Given the description of an element on the screen output the (x, y) to click on. 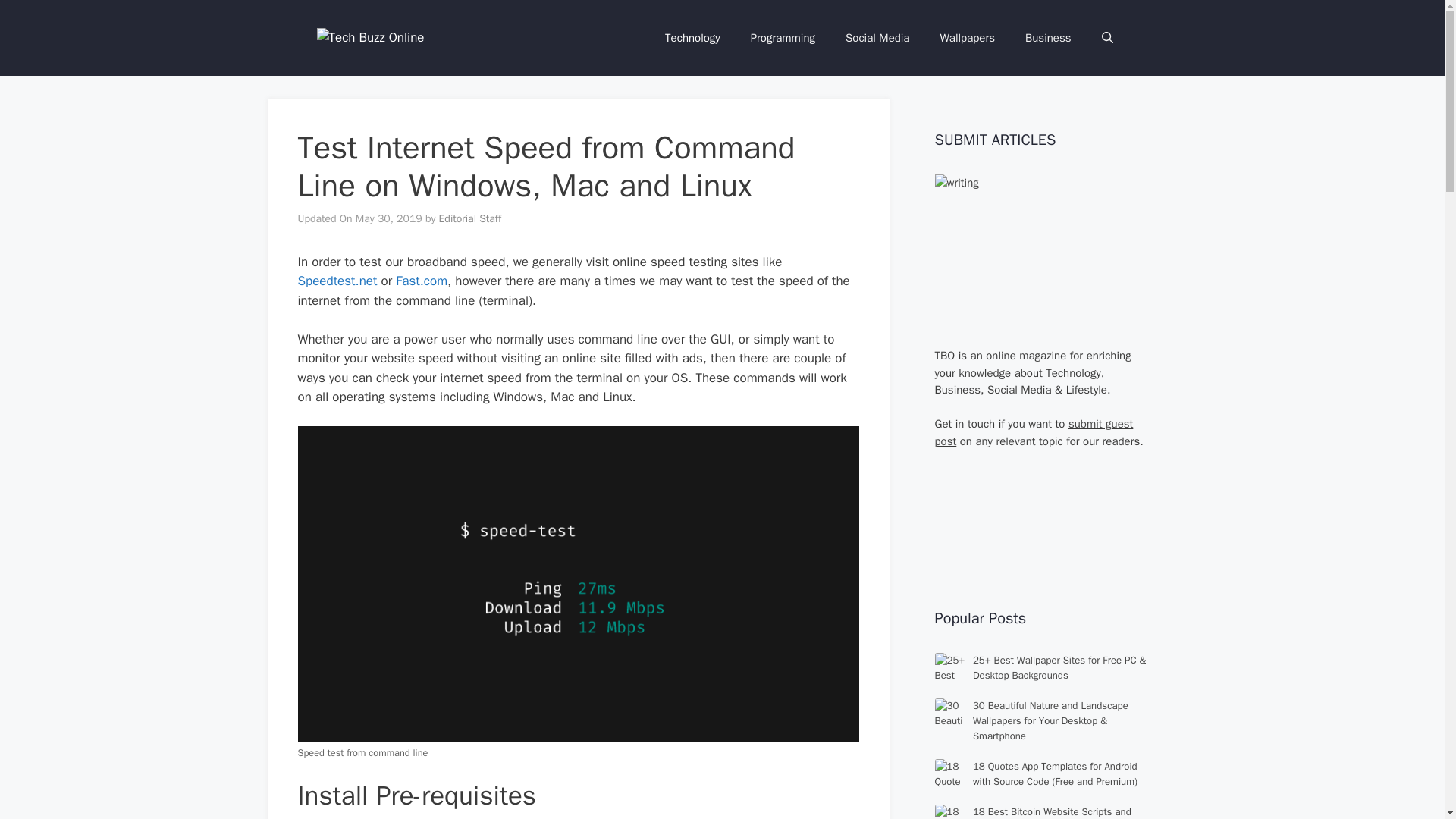
Editorial Staff (470, 218)
Technology (692, 37)
View all posts by Editorial Staff (470, 218)
Fast.com (421, 280)
Wallpapers (967, 37)
Business (1048, 37)
Speedtest.net (337, 280)
Social Media (876, 37)
Programming (782, 37)
submit guest post (1033, 431)
